Given the description of an element on the screen output the (x, y) to click on. 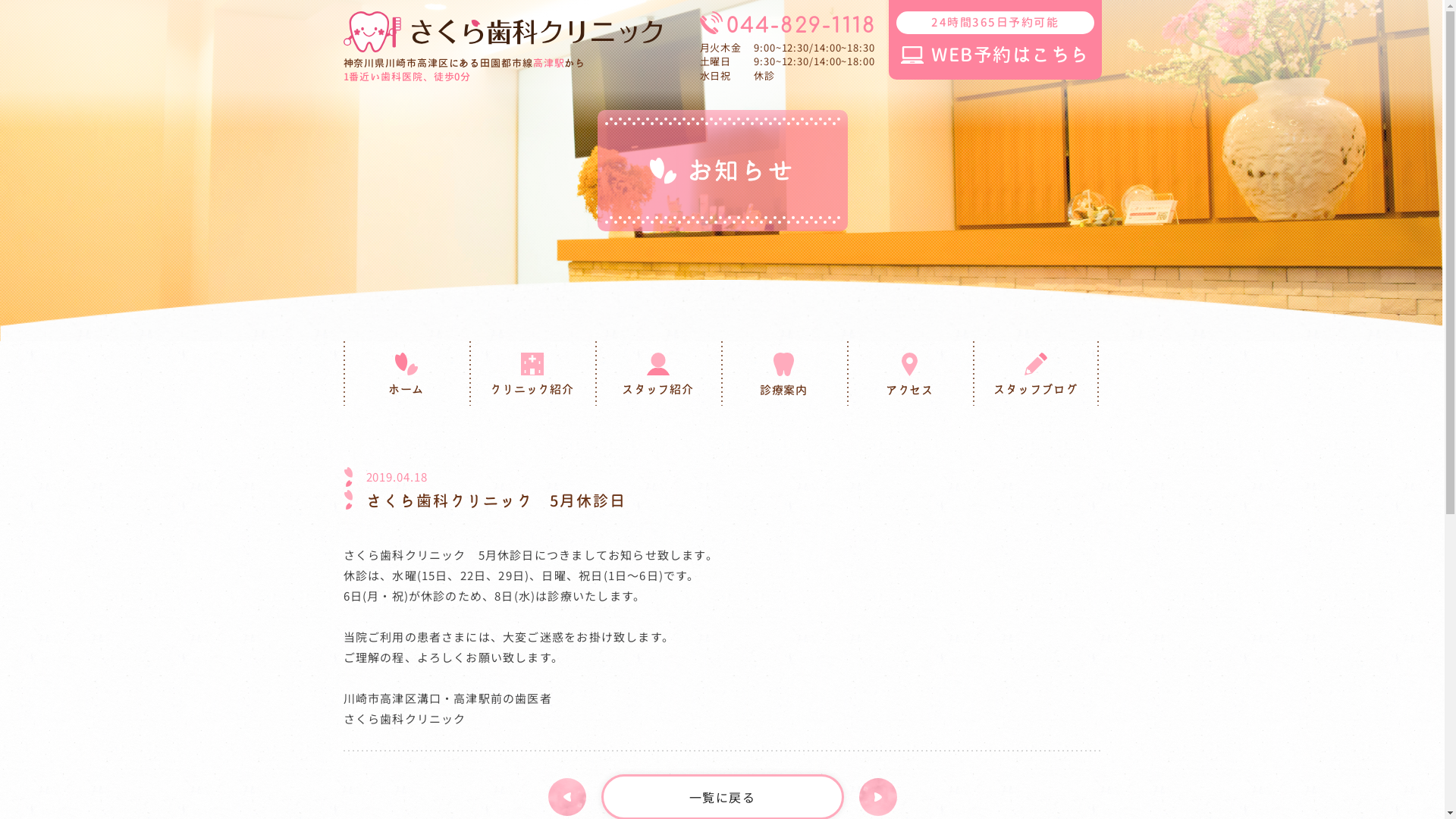
044-829-1118 Element type: text (789, 25)
